Given the description of an element on the screen output the (x, y) to click on. 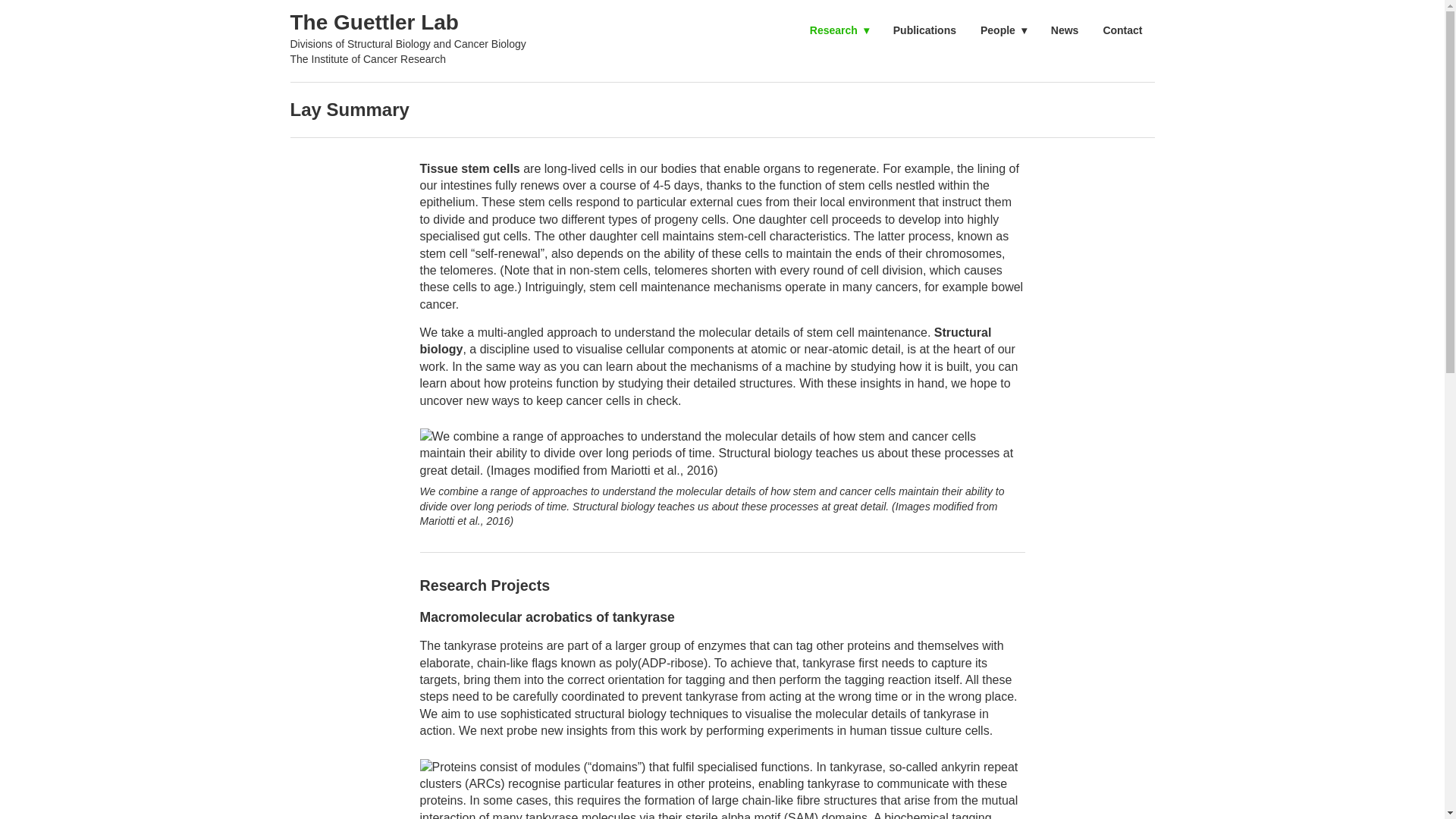
Publications (924, 30)
The Guettler Lab (407, 21)
Research (838, 30)
People (1003, 30)
Contact (1122, 30)
News (1064, 30)
